Given the description of an element on the screen output the (x, y) to click on. 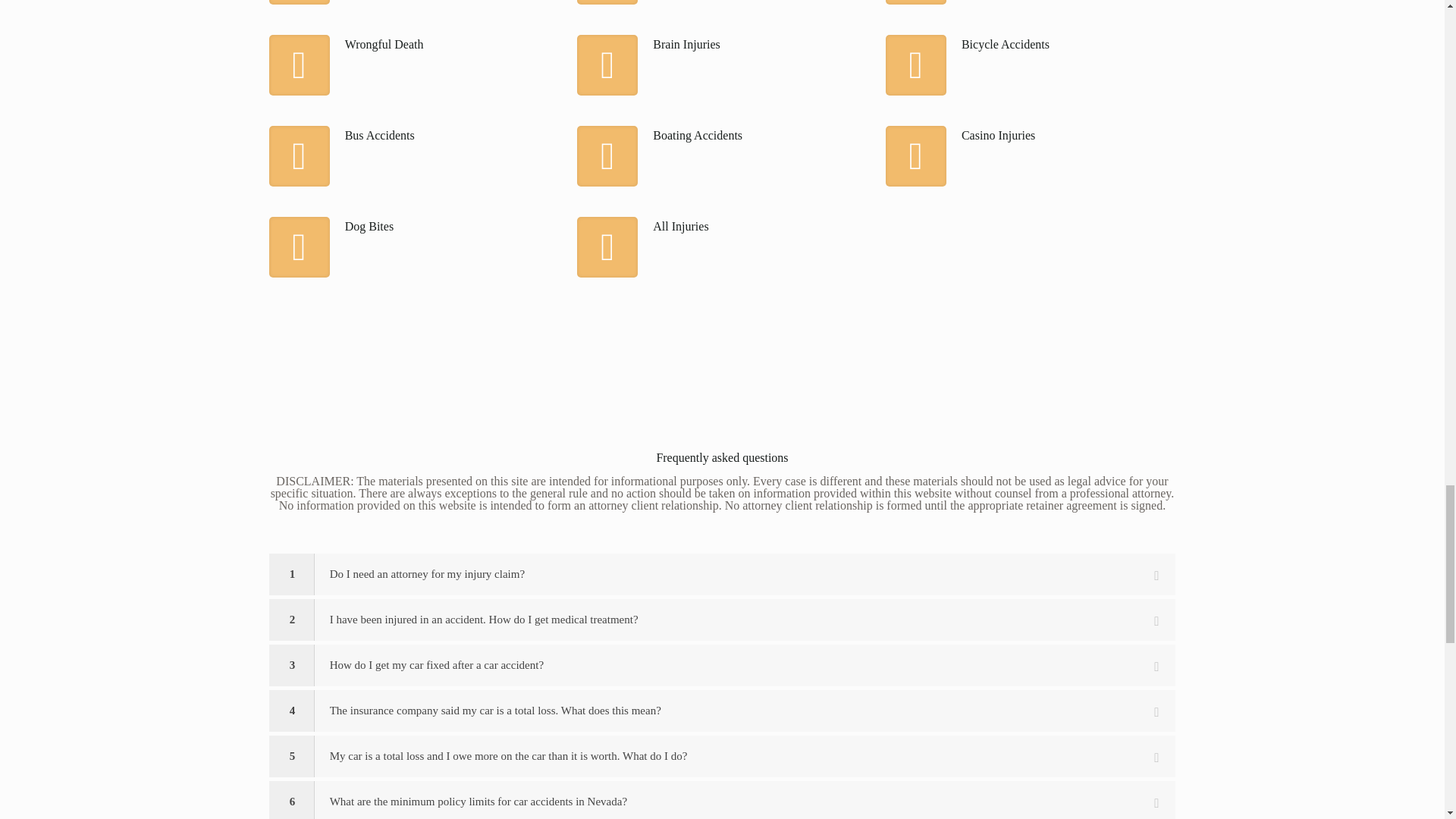
Wrongful Death (414, 42)
Brain Injuries (721, 42)
